Given the description of an element on the screen output the (x, y) to click on. 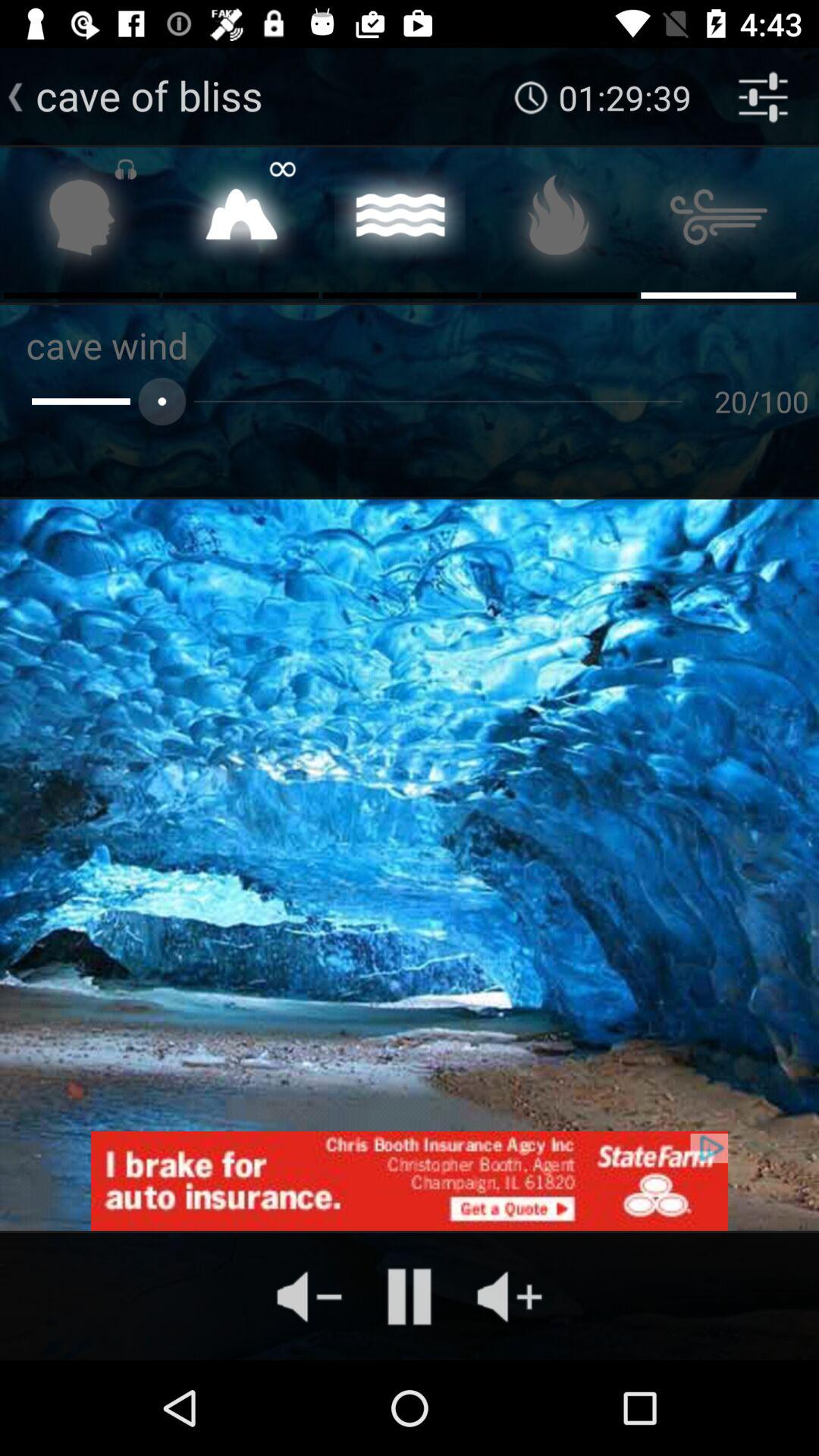
icon button (559, 221)
